Given the description of an element on the screen output the (x, y) to click on. 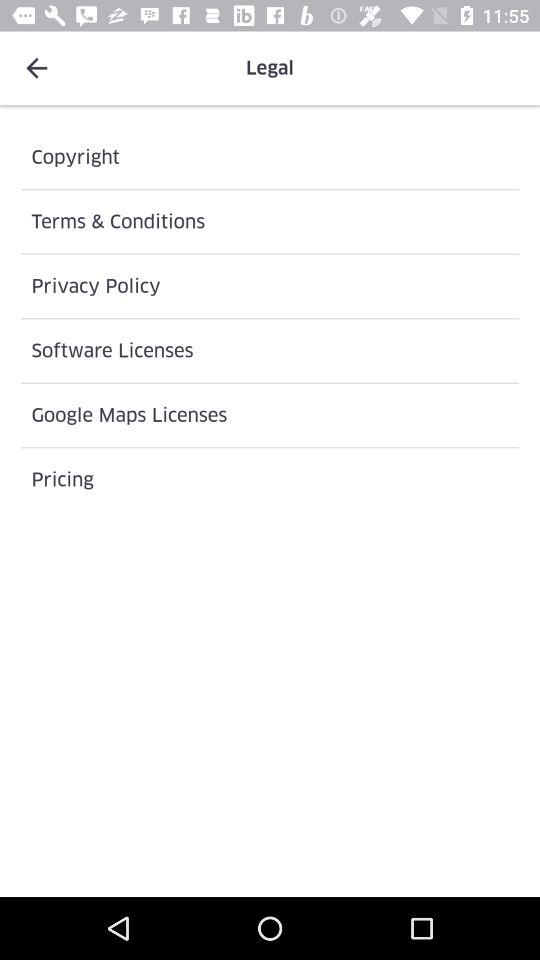
choose item below the terms & conditions icon (270, 286)
